Given the description of an element on the screen output the (x, y) to click on. 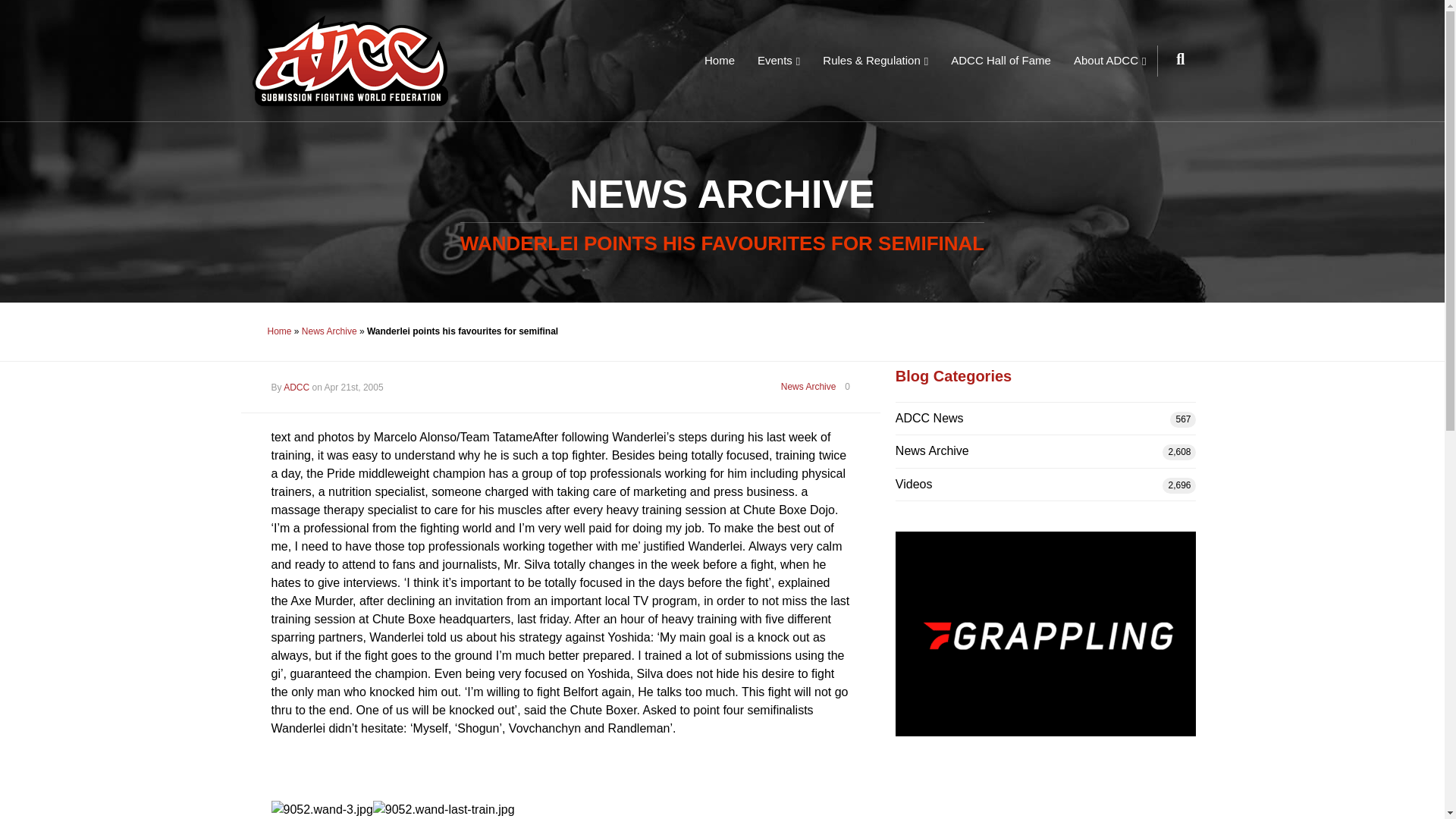
Home (719, 60)
Posts by ADCC (295, 387)
Events (777, 60)
News Archive (1015, 450)
About ADCC (1109, 60)
ADCC News (1015, 418)
Videos (1015, 484)
News Archive (328, 330)
Home (278, 330)
ADCC (295, 387)
